Given the description of an element on the screen output the (x, y) to click on. 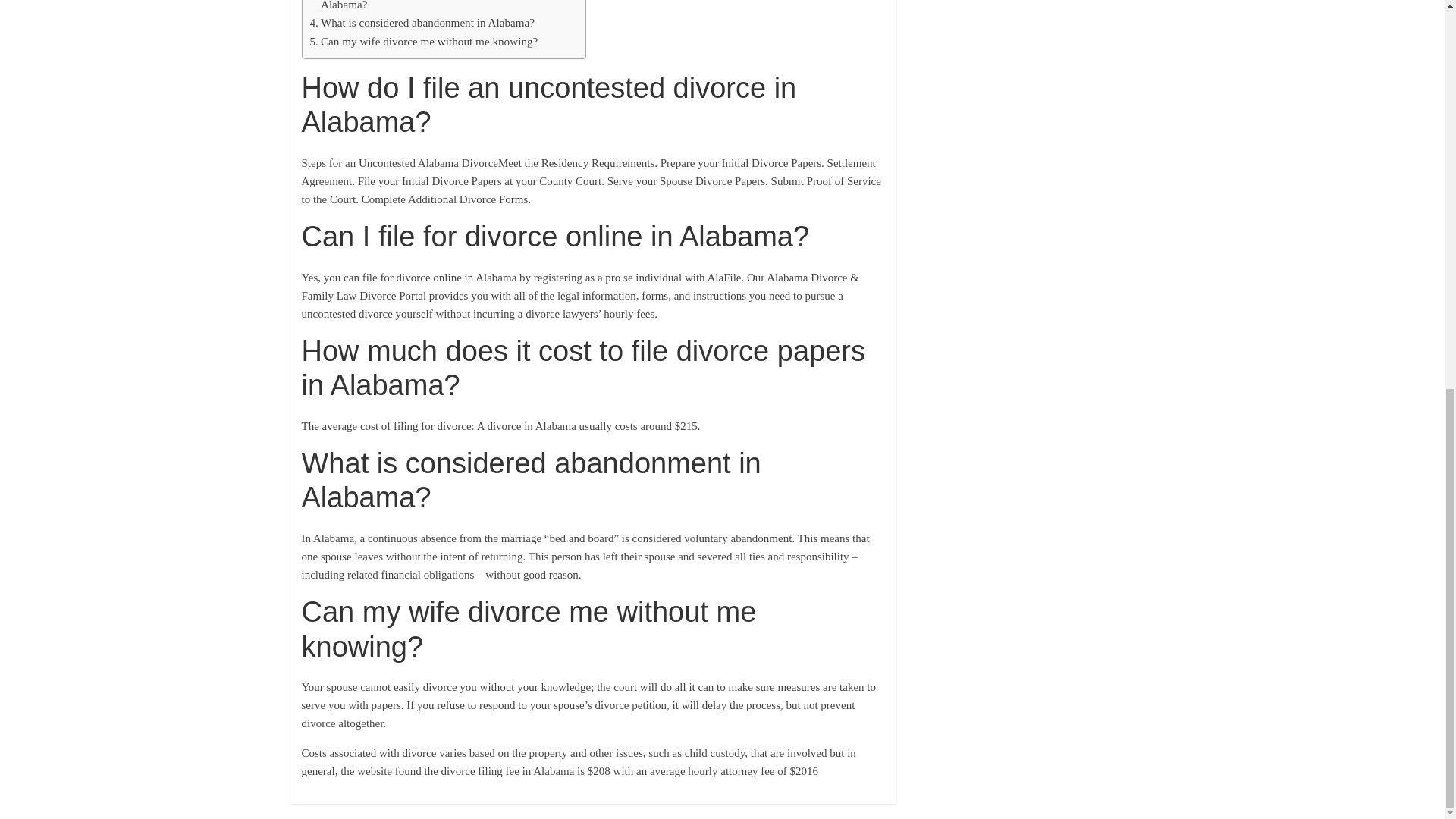
What is considered abandonment in Alabama? (421, 22)
Can my wife divorce me without me knowing? (422, 41)
How much does it cost to file divorce papers in Alabama? (438, 7)
How much does it cost to file divorce papers in Alabama? (438, 7)
What is considered abandonment in Alabama? (421, 22)
Can my wife divorce me without me knowing? (422, 41)
